Given the description of an element on the screen output the (x, y) to click on. 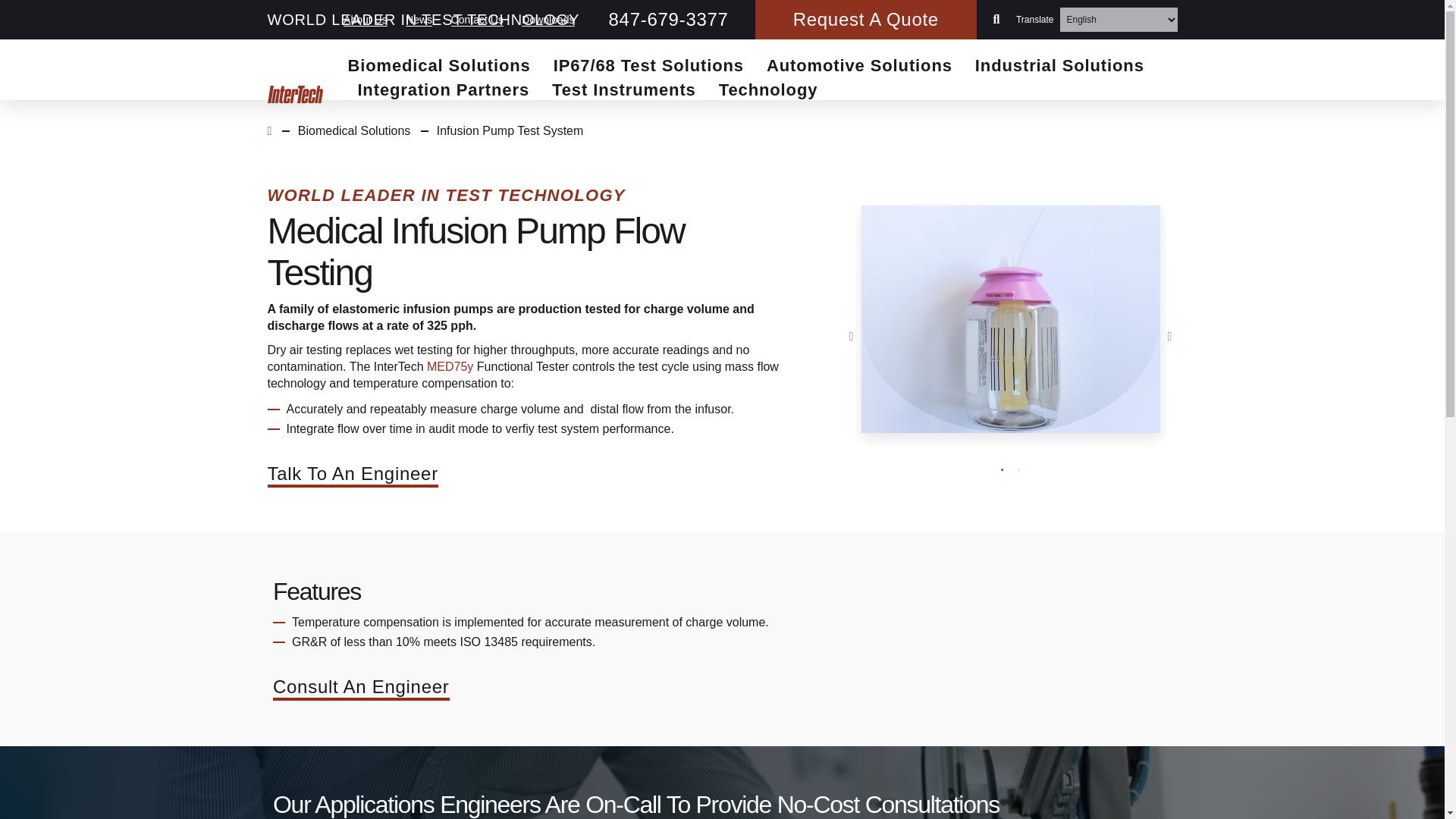
Contact Us (477, 19)
Automotive Solutions (859, 67)
Request A Quote (865, 19)
Downloads (547, 19)
About Us (365, 19)
847-679-3377 (668, 19)
Home - InterTech Development Company (294, 94)
Integration Partners (443, 91)
Industrial Solutions (1059, 67)
Biomedical Solutions (438, 67)
